Given the description of an element on the screen output the (x, y) to click on. 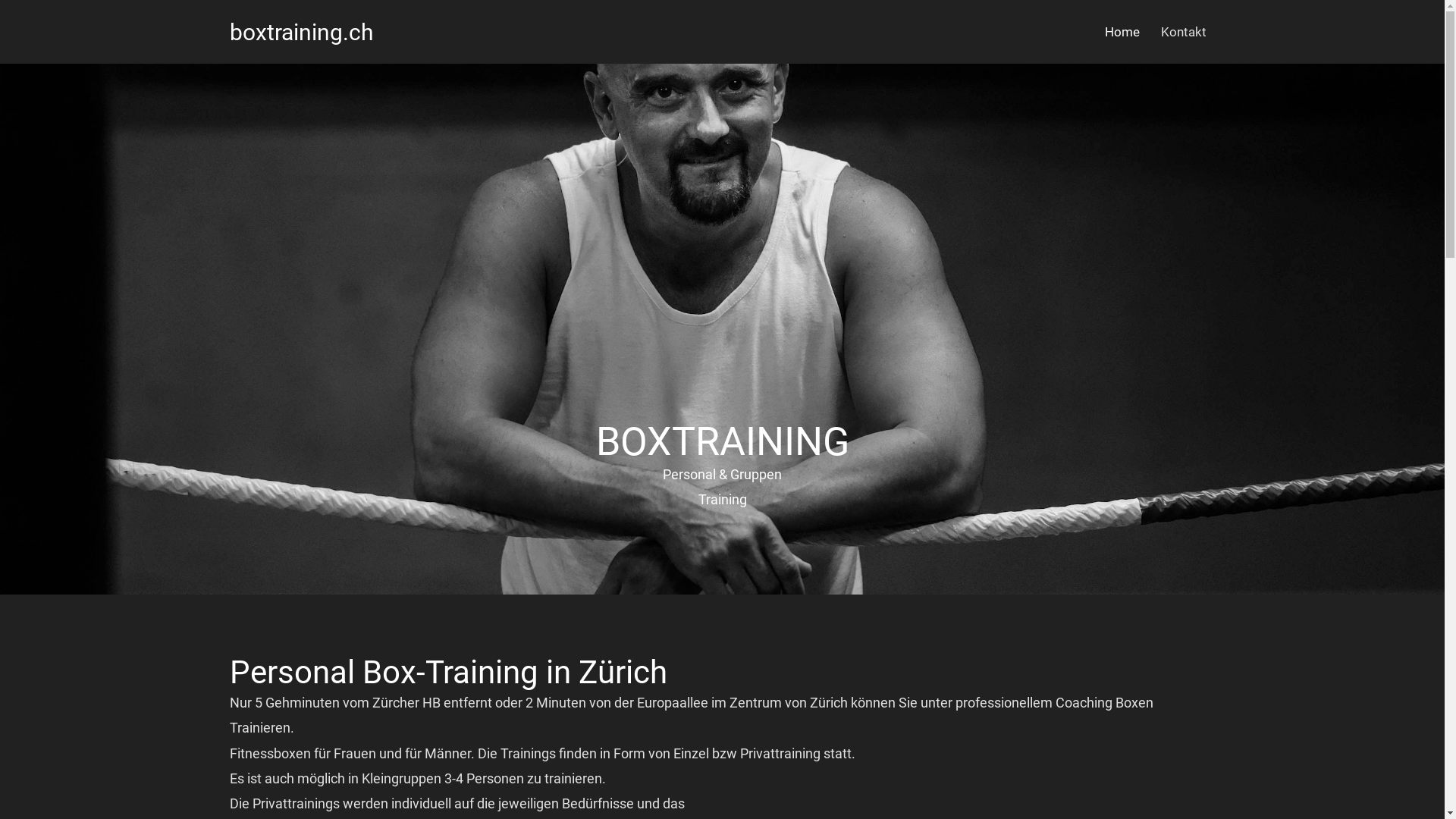
Home Element type: text (1121, 31)
boxtraining.ch Element type: text (301, 31)
Kontakt Element type: text (1182, 31)
